Given the description of an element on the screen output the (x, y) to click on. 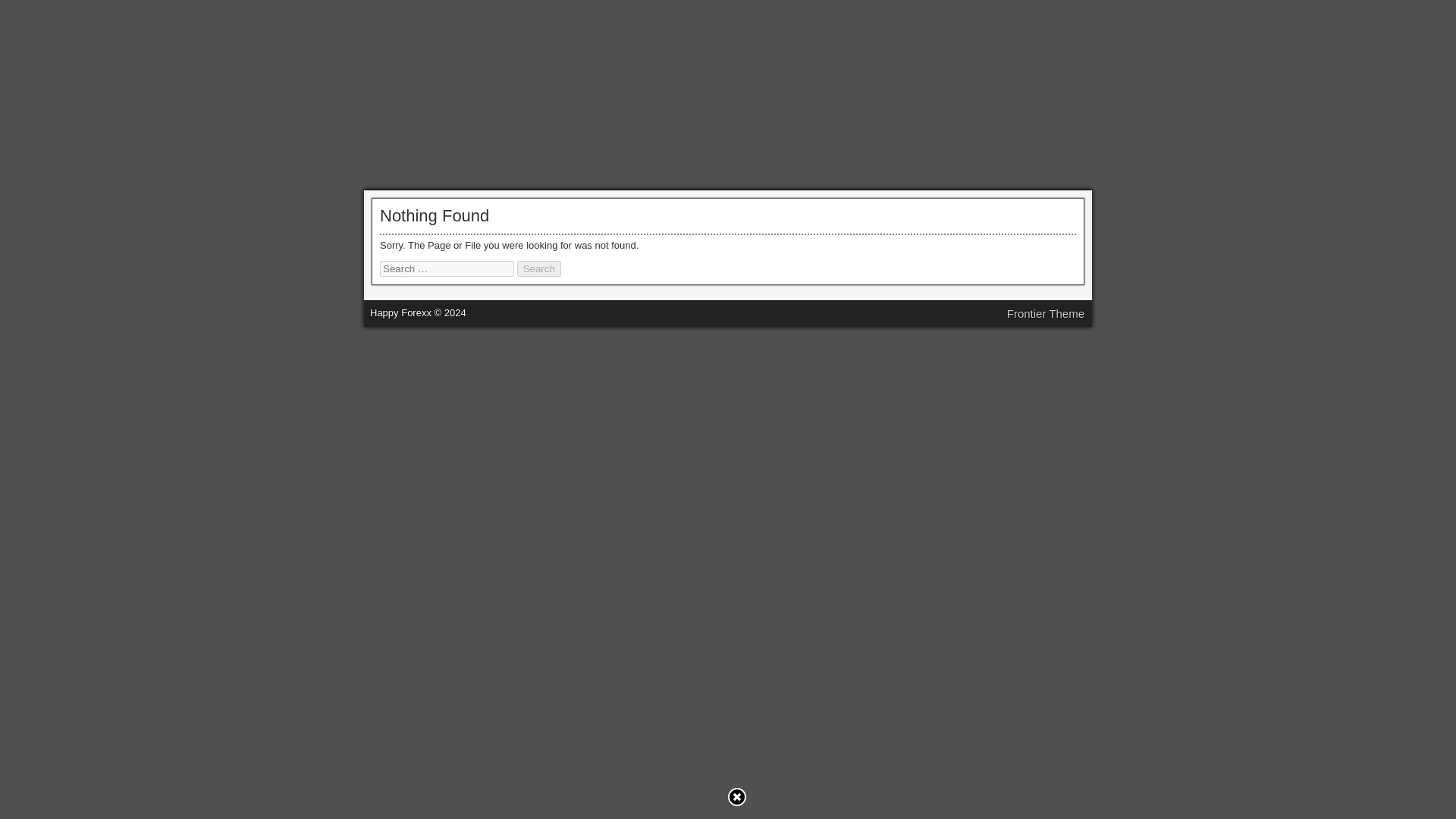
Search (538, 268)
Search (538, 268)
Search (538, 268)
Frontier Theme (1045, 313)
